Given the description of an element on the screen output the (x, y) to click on. 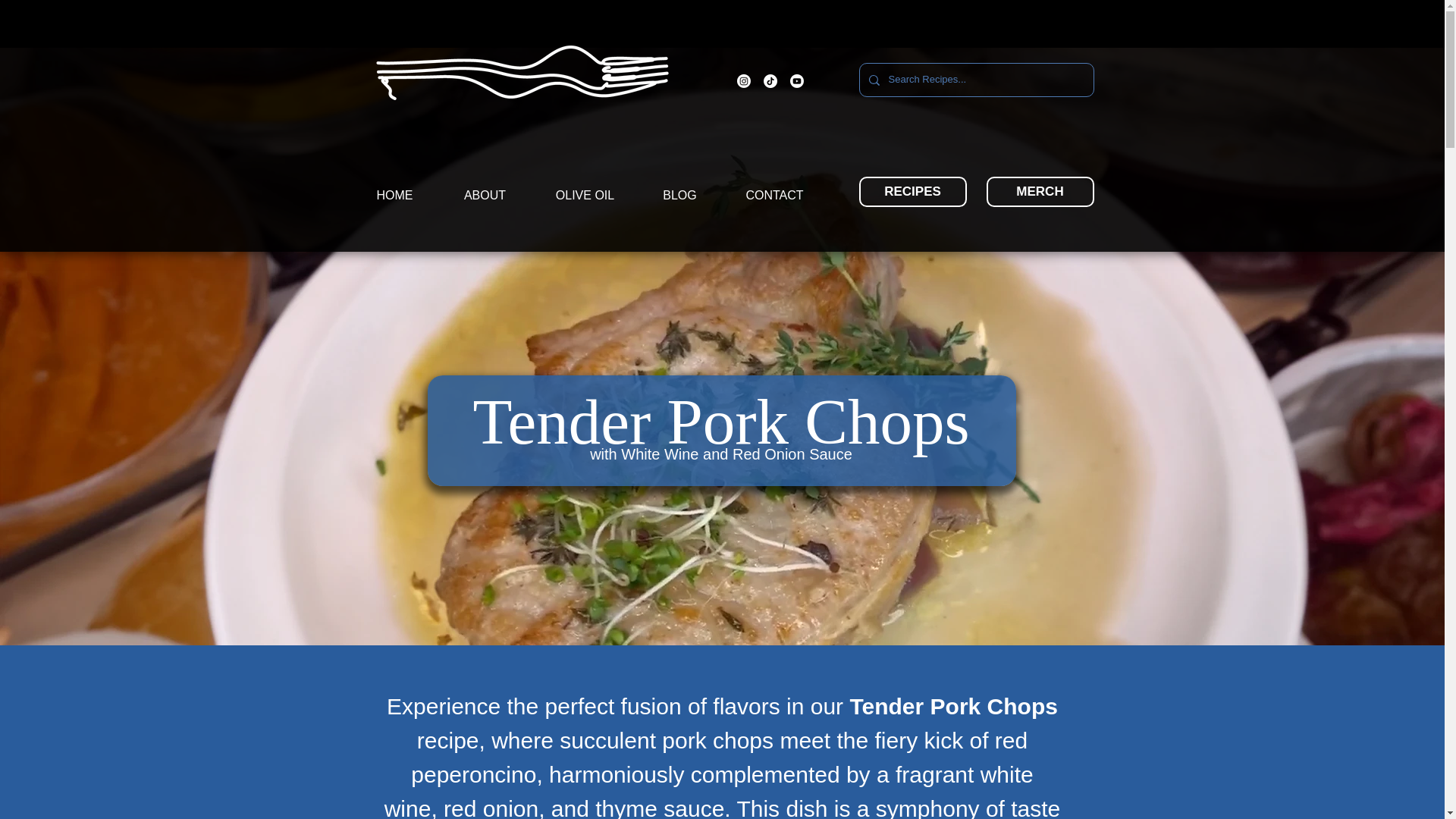
ABOUT (484, 195)
BLOG (679, 195)
CONTACT (774, 195)
RECIPES (912, 191)
HOME (394, 195)
MERCH (1039, 191)
OLIVE OIL (585, 195)
